Given the description of an element on the screen output the (x, y) to click on. 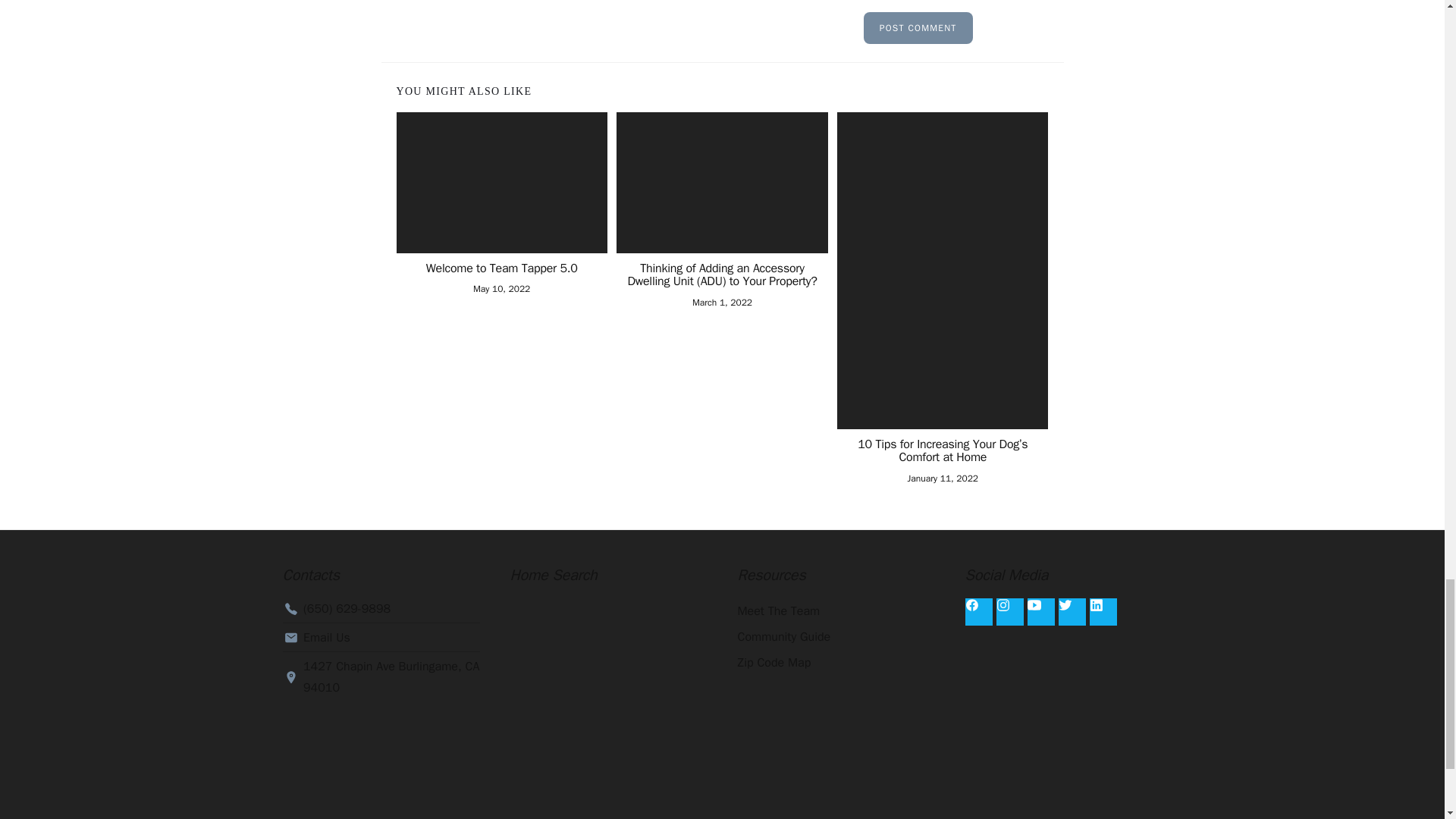
Post Comment (917, 28)
Community Guide (835, 637)
Post Comment (917, 28)
DMCA.com Protection Status (835, 746)
1427 Chapin Ave Burlingame, CA 94010 (380, 677)
Email Us (380, 637)
Zip Code Map (835, 662)
Meet The Team (835, 611)
Welcome to Team Tapper 5.0 (500, 269)
